Given the description of an element on the screen output the (x, y) to click on. 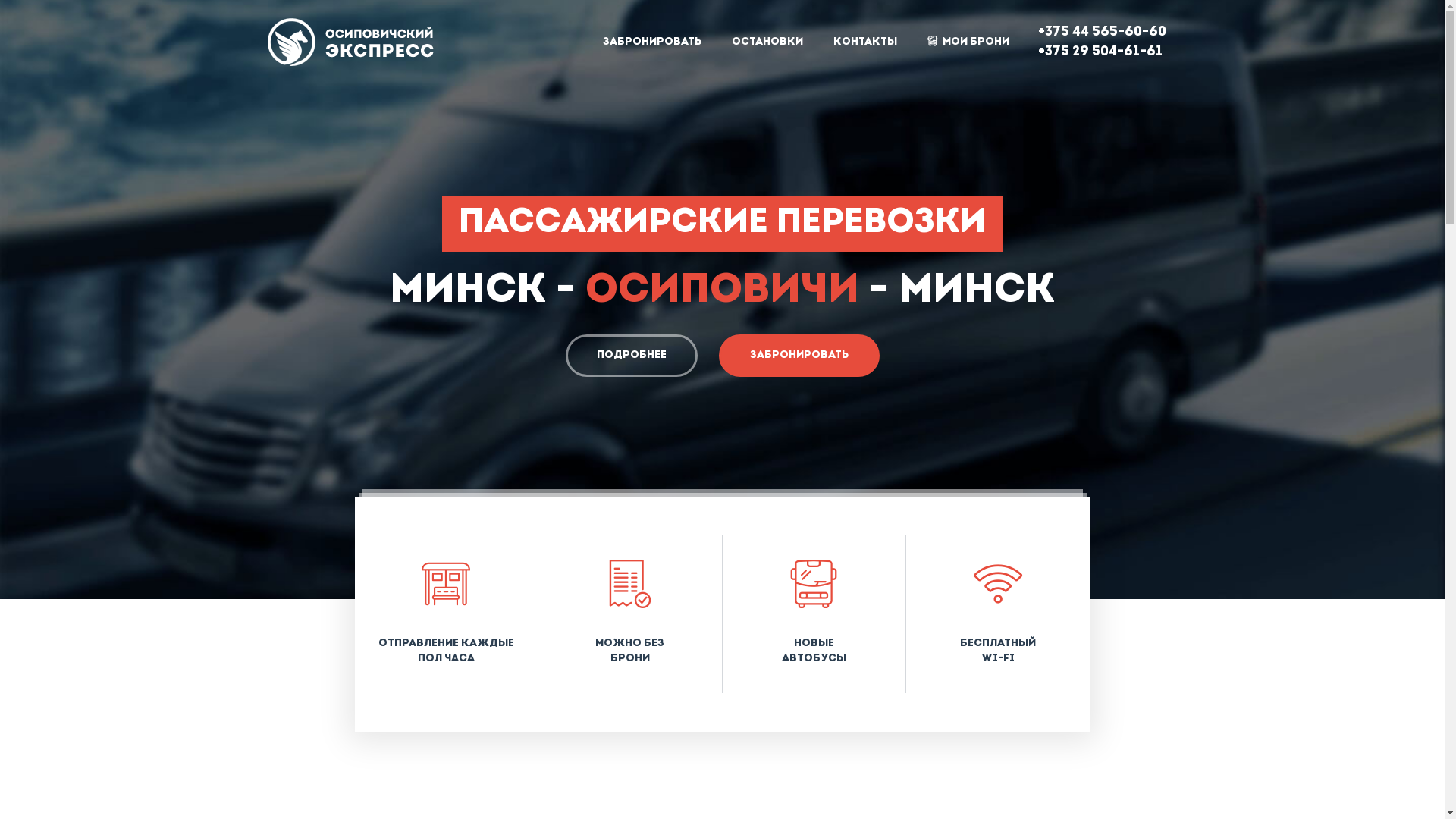
+375 29 504-61-61 Element type: text (1099, 51)
+375 44 565-60-60 Element type: text (1101, 32)
